Given the description of an element on the screen output the (x, y) to click on. 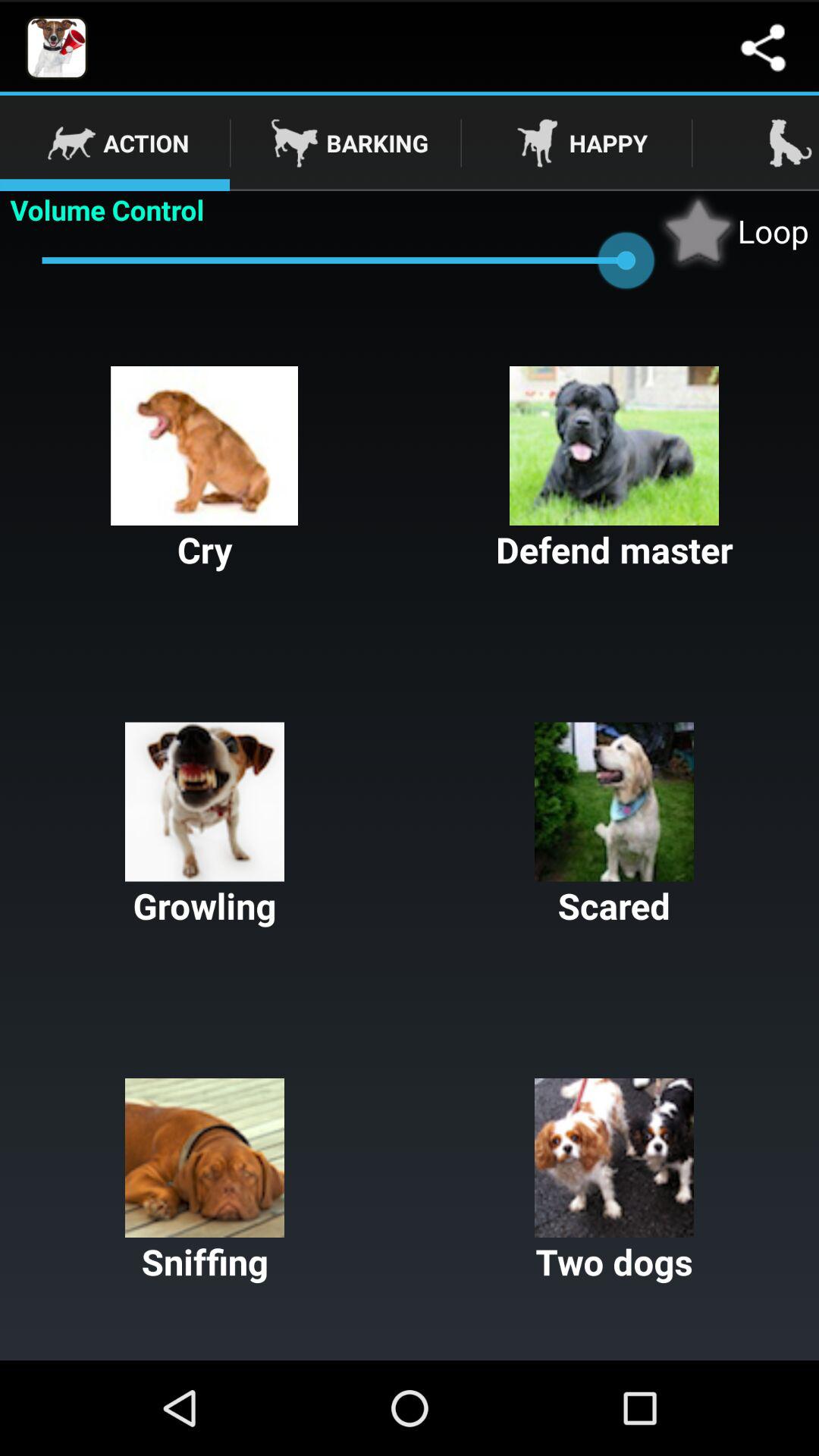
launch the button to the right of cry item (614, 469)
